Given the description of an element on the screen output the (x, y) to click on. 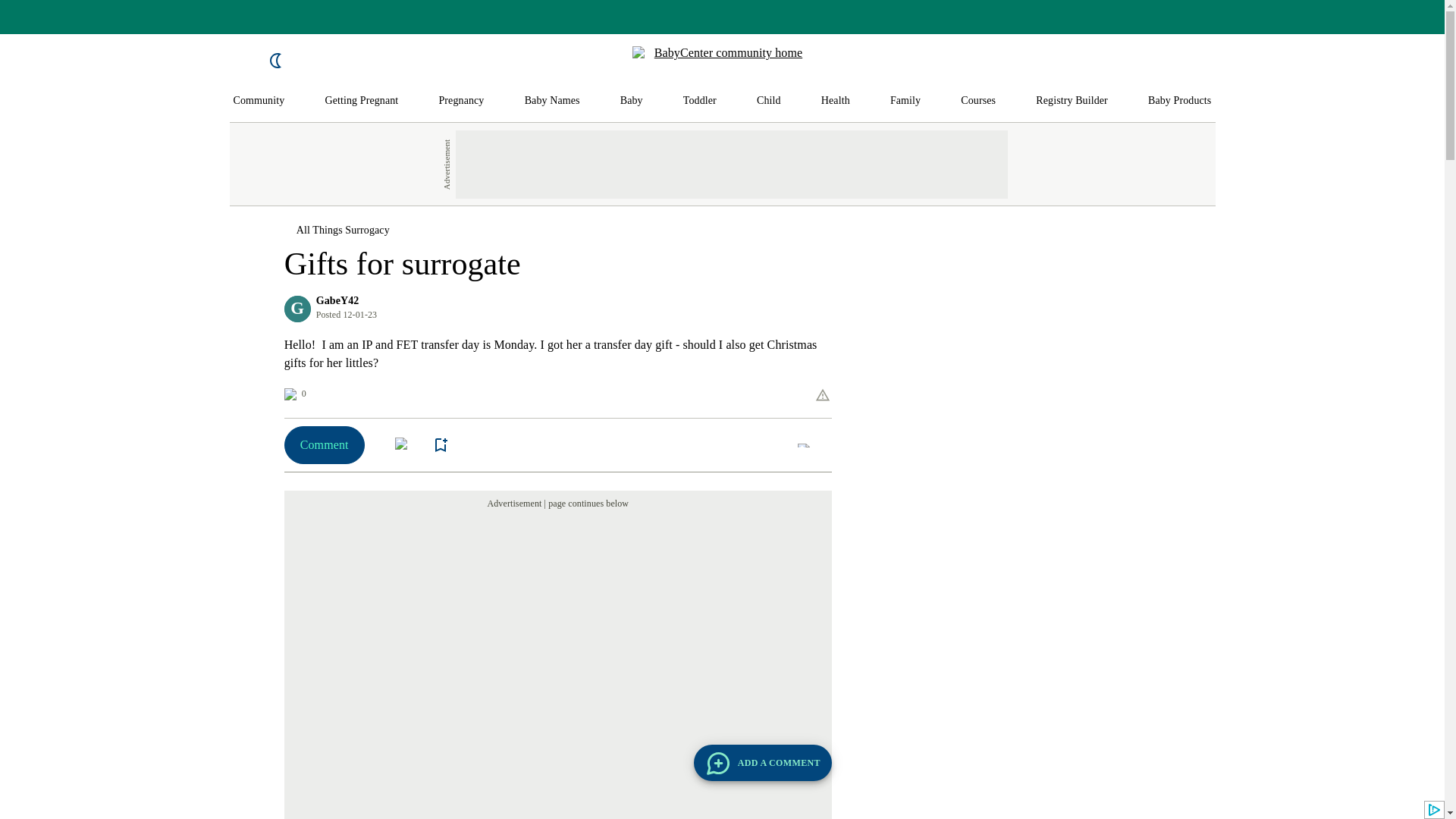
Courses (977, 101)
Registry Builder (1071, 101)
Community (258, 101)
Pregnancy (460, 101)
Baby (631, 101)
Family (904, 101)
Health (835, 101)
Child (768, 101)
Baby Products (1179, 101)
Getting Pregnant (360, 101)
